Given the description of an element on the screen output the (x, y) to click on. 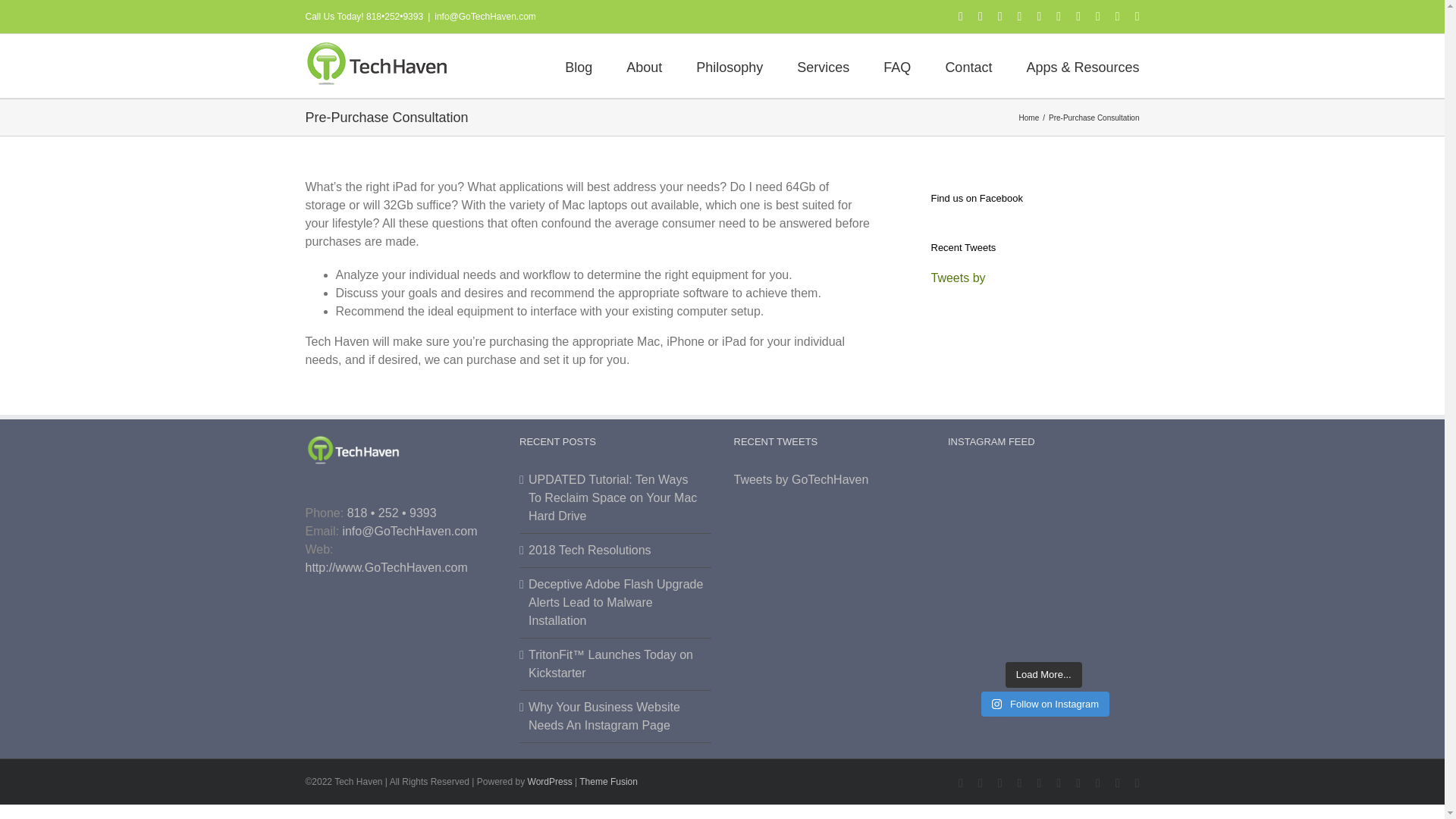
Philosophy (728, 65)
Home (1029, 117)
Tweets by GoTechHaven (801, 479)
Tweets by (958, 277)
Why Your Business Website Needs An Instagram Page (615, 715)
2018 Tech Resolutions (615, 550)
